Given the description of an element on the screen output the (x, y) to click on. 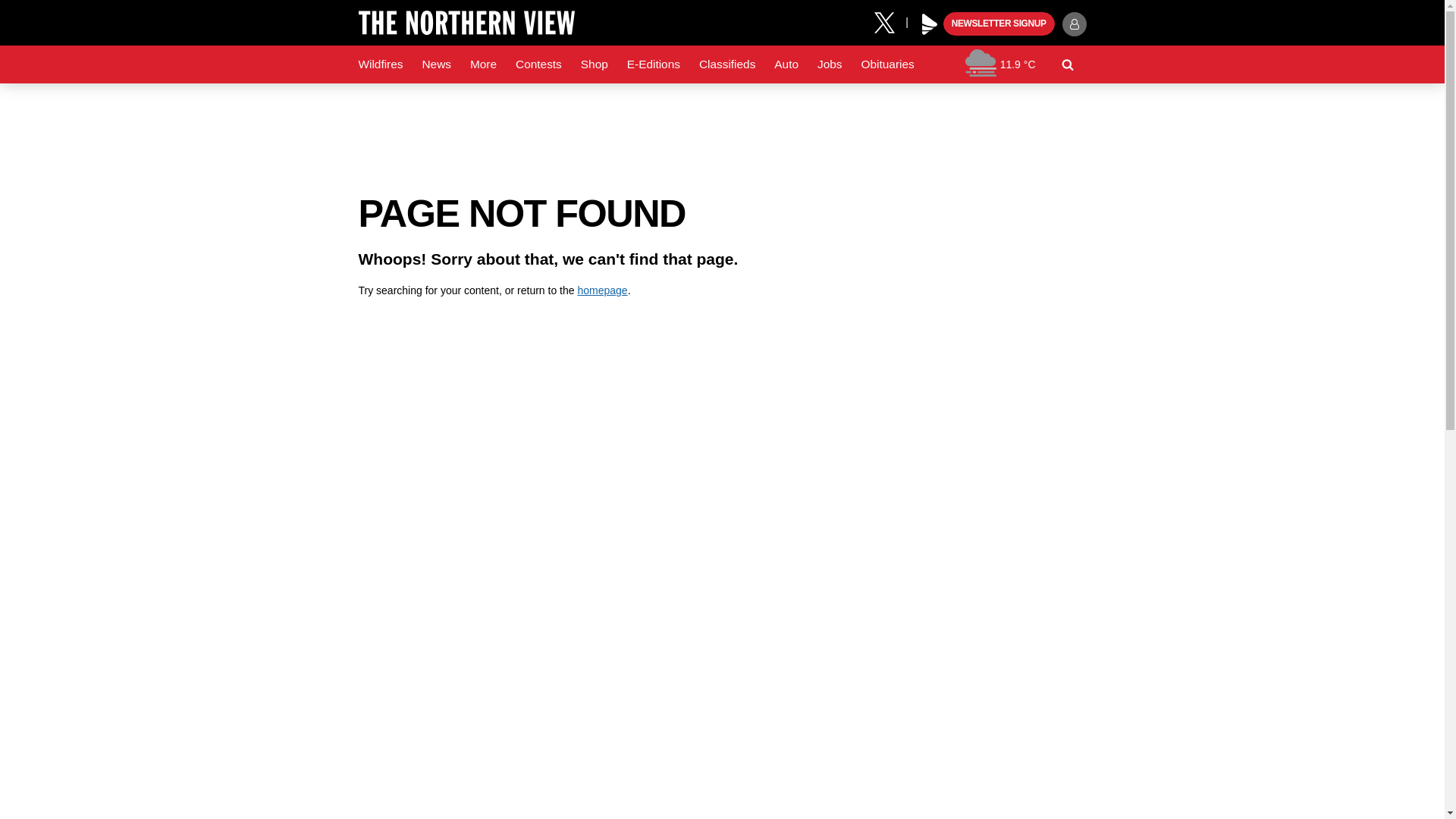
NEWSLETTER SIGNUP (998, 24)
Play (929, 24)
News (435, 64)
Black Press Media (929, 24)
X (889, 21)
Wildfires (380, 64)
